Given the description of an element on the screen output the (x, y) to click on. 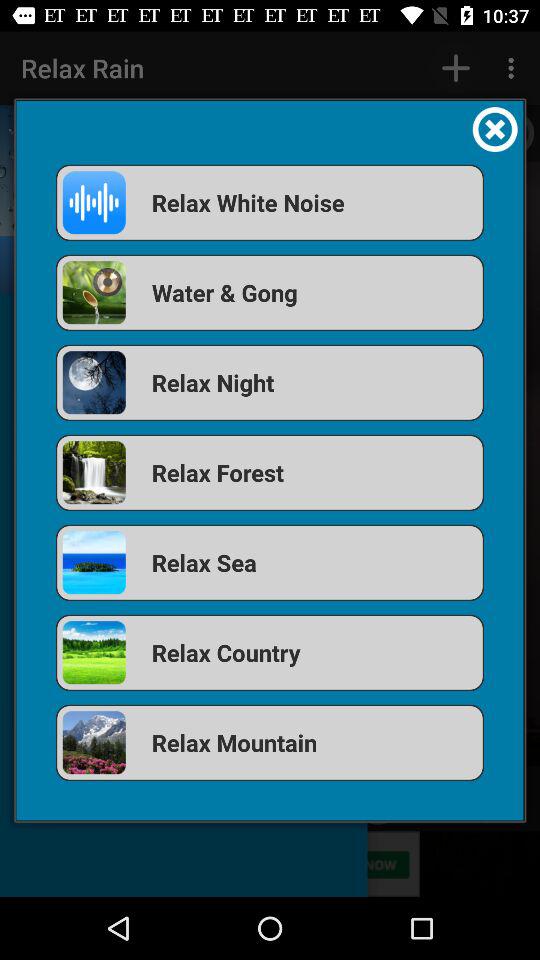
scroll until the relax forest app (269, 472)
